Given the description of an element on the screen output the (x, y) to click on. 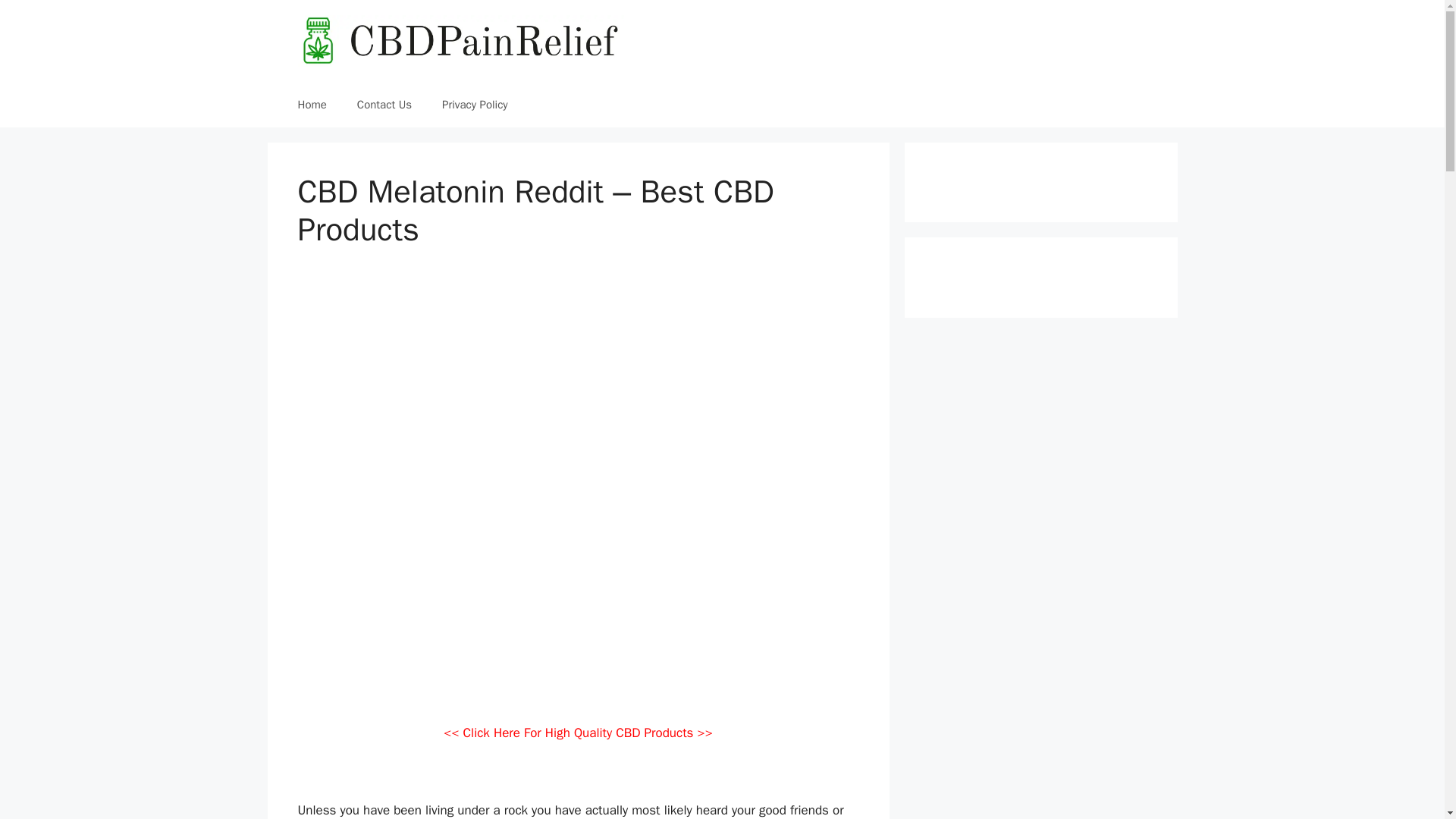
Home (311, 104)
CBDPainRelief (460, 39)
CBDPainRelief (460, 40)
Privacy Policy (474, 104)
Contact Us (384, 104)
